Given the description of an element on the screen output the (x, y) to click on. 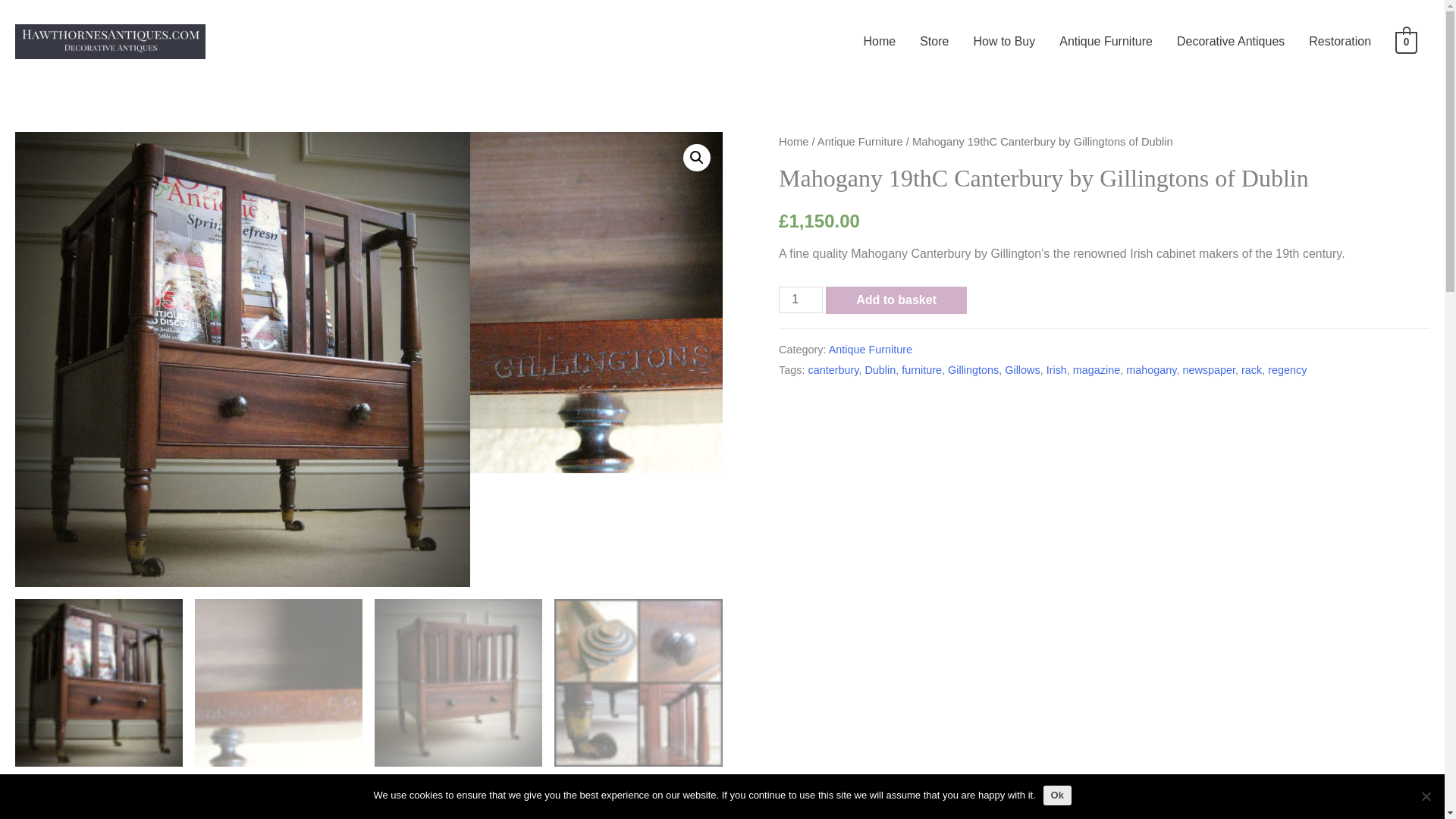
regency (1287, 369)
Irish (1056, 369)
Gillingtons (972, 369)
Qty (800, 299)
Home (793, 141)
Antique Furniture (1105, 41)
Dublin (879, 369)
magazine (1096, 369)
newspaper (1208, 369)
View your shopping basket (1405, 41)
1 (800, 299)
Home (878, 41)
furniture (921, 369)
